Given the description of an element on the screen output the (x, y) to click on. 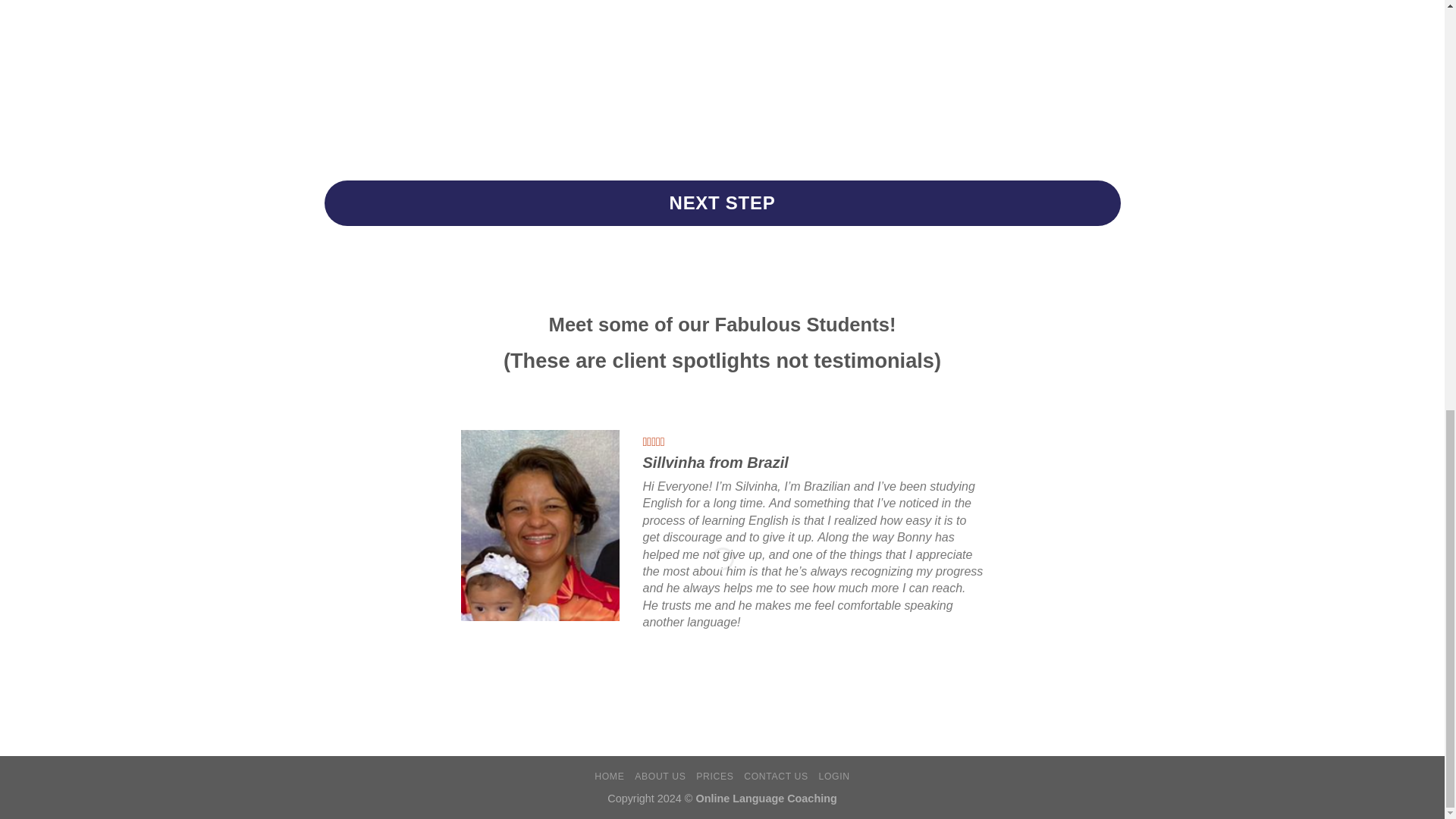
PRICES (714, 776)
NEXT STEP (722, 203)
ABOUT US (659, 776)
LOGIN (834, 776)
HOME (609, 776)
CONTACT US (776, 776)
